Given the description of an element on the screen output the (x, y) to click on. 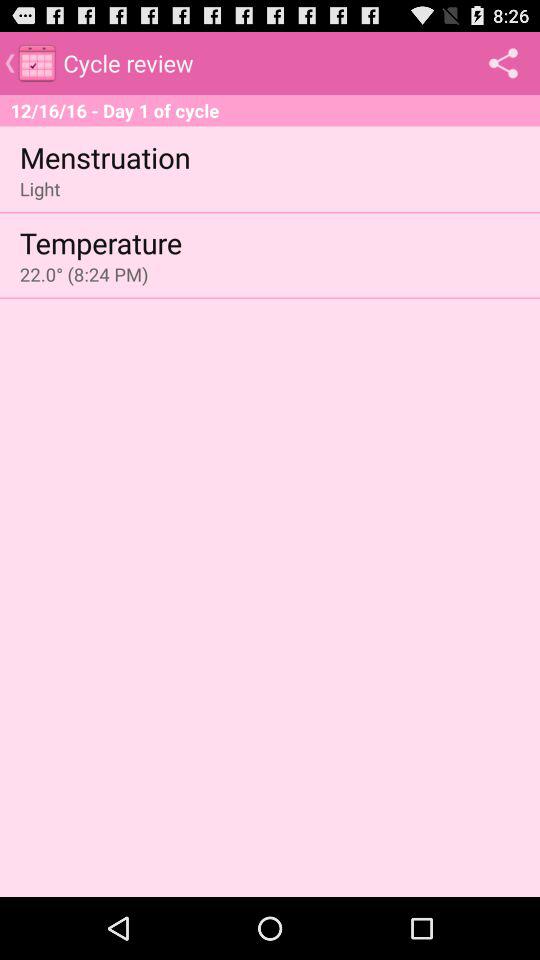
jump until the menstruation item (104, 156)
